Given the description of an element on the screen output the (x, y) to click on. 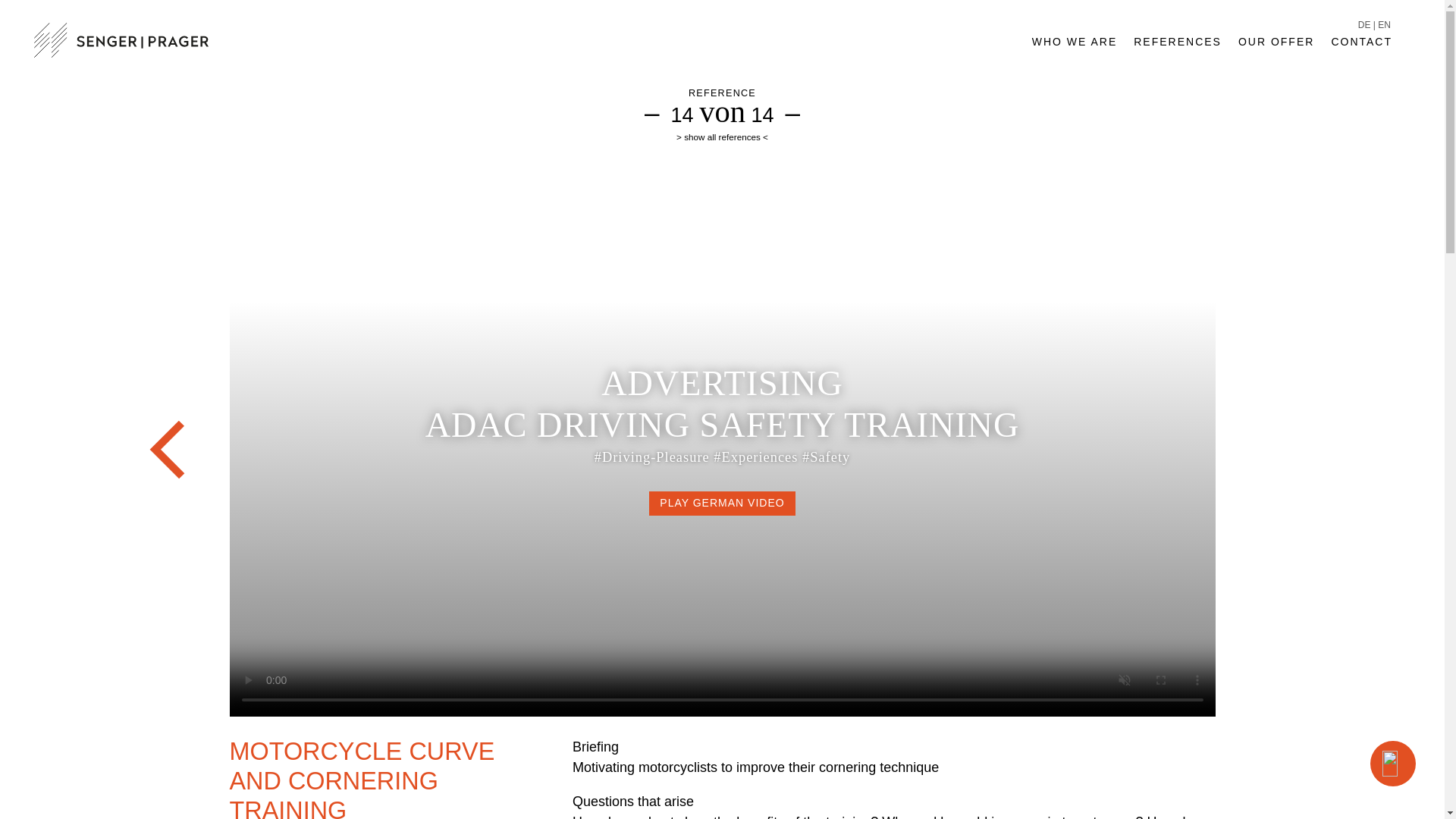
WHO WE ARE (1075, 46)
OUR OFFER (1276, 46)
Logo Senger - Prager (120, 39)
DE (1364, 24)
CONTACT (1360, 46)
REFERENCES (1177, 46)
